Given the description of an element on the screen output the (x, y) to click on. 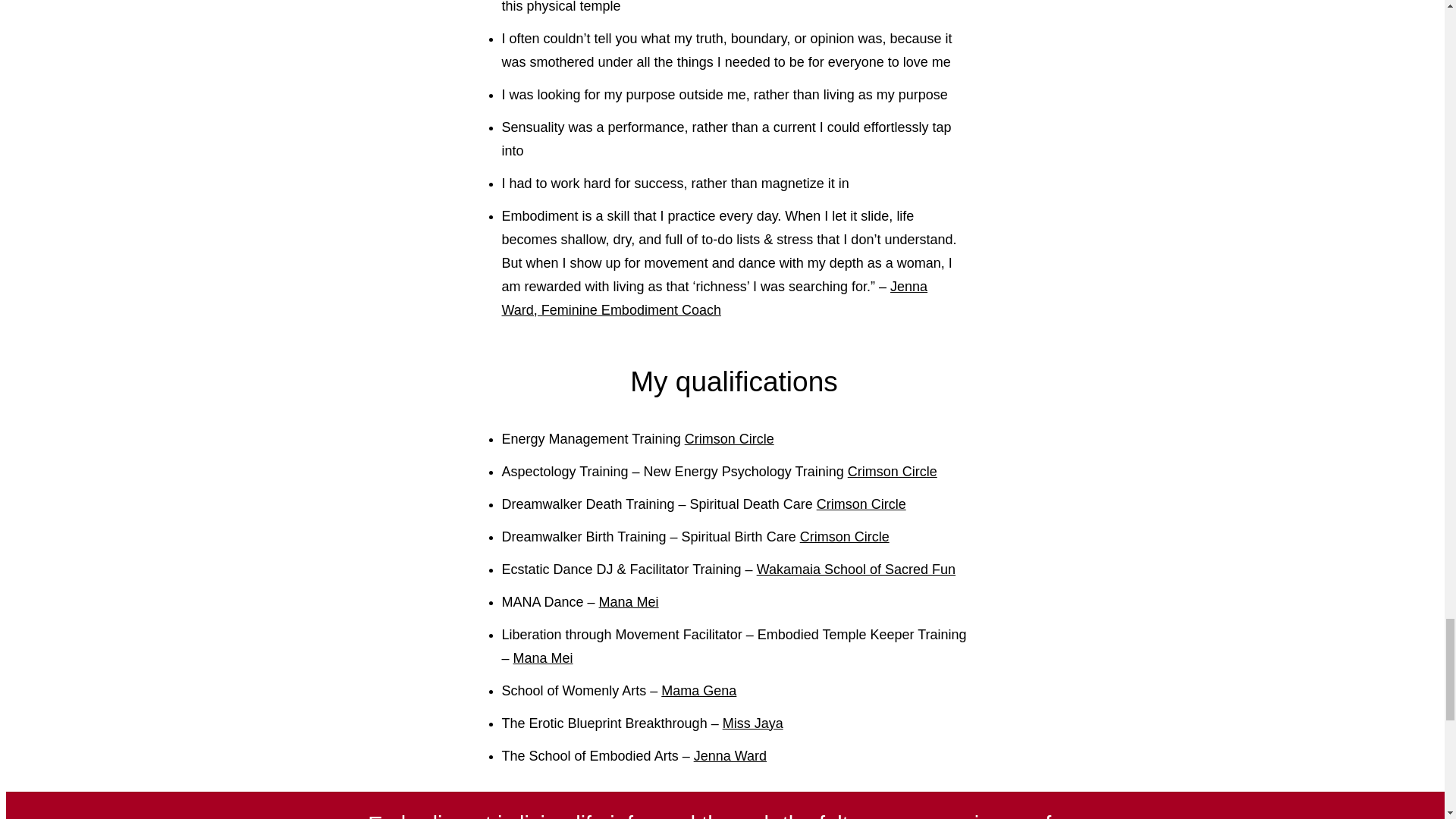
Crimson Circle (892, 471)
Jenna Ward, Feminine Embodiment Coach (715, 298)
Crimson Circle (844, 536)
Mana Mei (628, 601)
Mama Gena (698, 689)
Crimson Circle (729, 437)
Wakamaia School of Sacred Fun (856, 568)
Jenna Ward (730, 754)
Mana Mei (543, 657)
Crimson Circle (860, 503)
